Given the description of an element on the screen output the (x, y) to click on. 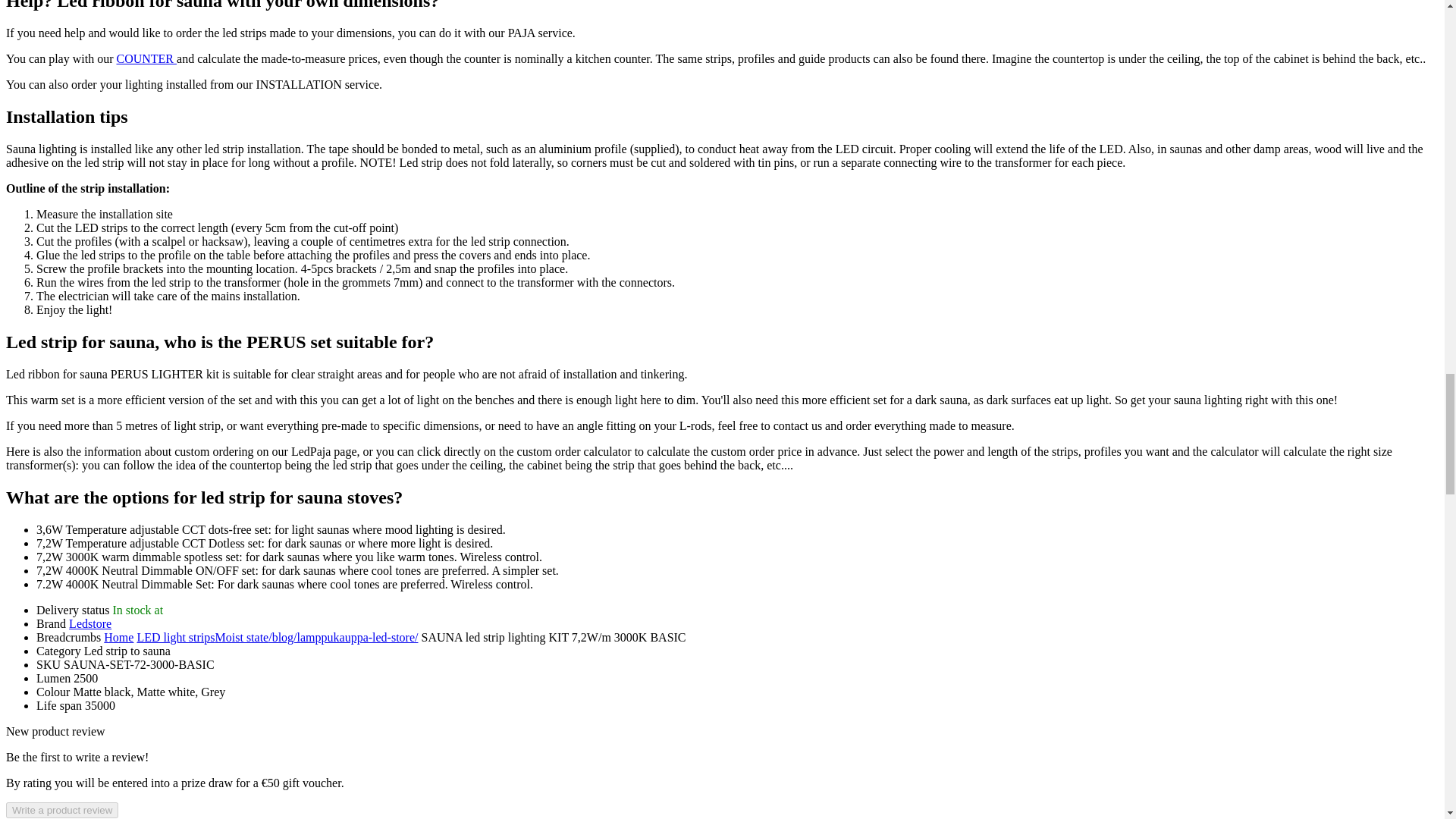
COUNTER (146, 58)
LED light strips (175, 636)
Home (118, 636)
Moist state (242, 636)
Write a product review (61, 810)
Ledstore (90, 623)
